Given the description of an element on the screen output the (x, y) to click on. 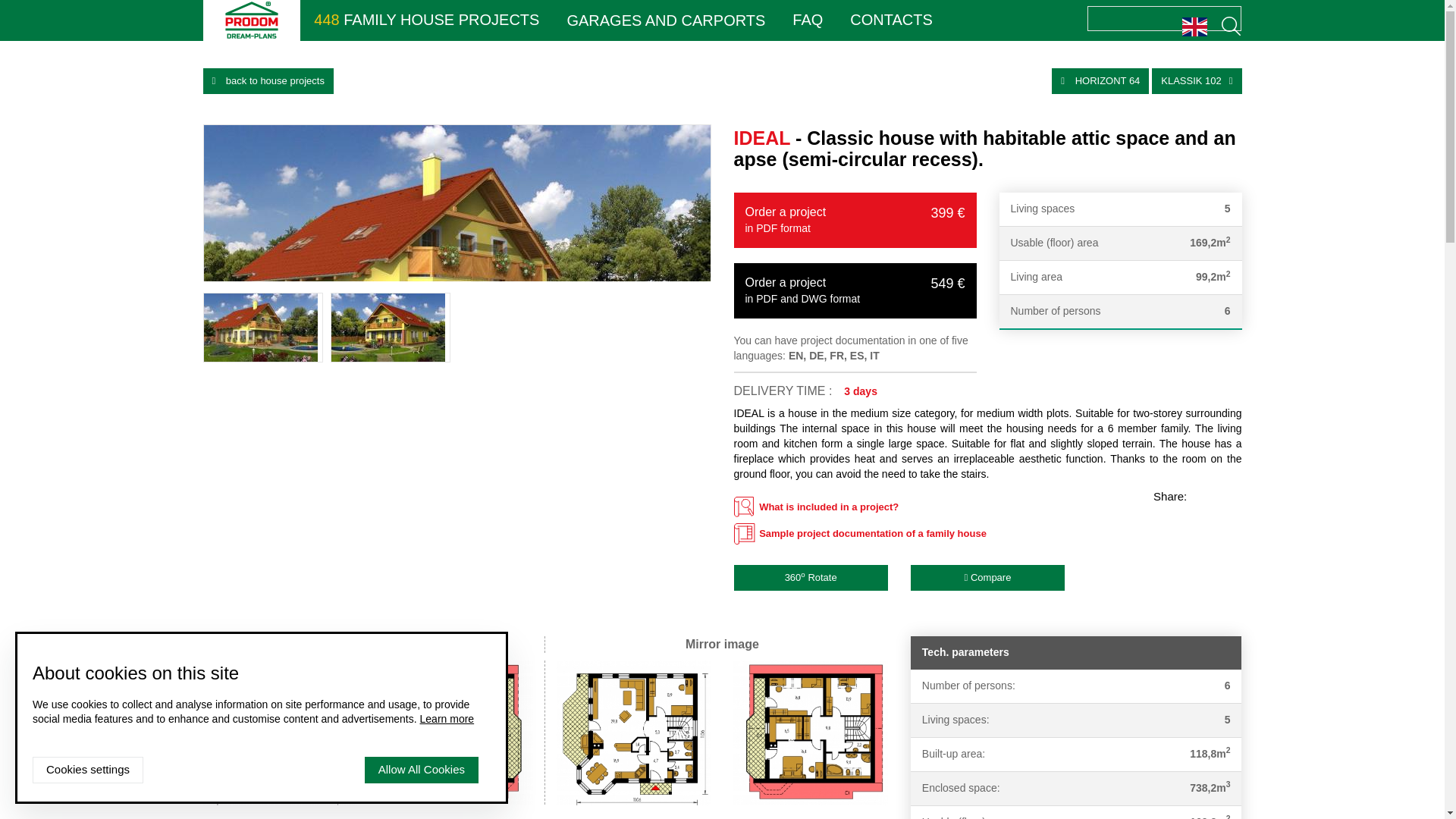
448 FAMILY HOUSE PROJECTS (426, 19)
Pridaj na porovnanie (987, 577)
